Given the description of an element on the screen output the (x, y) to click on. 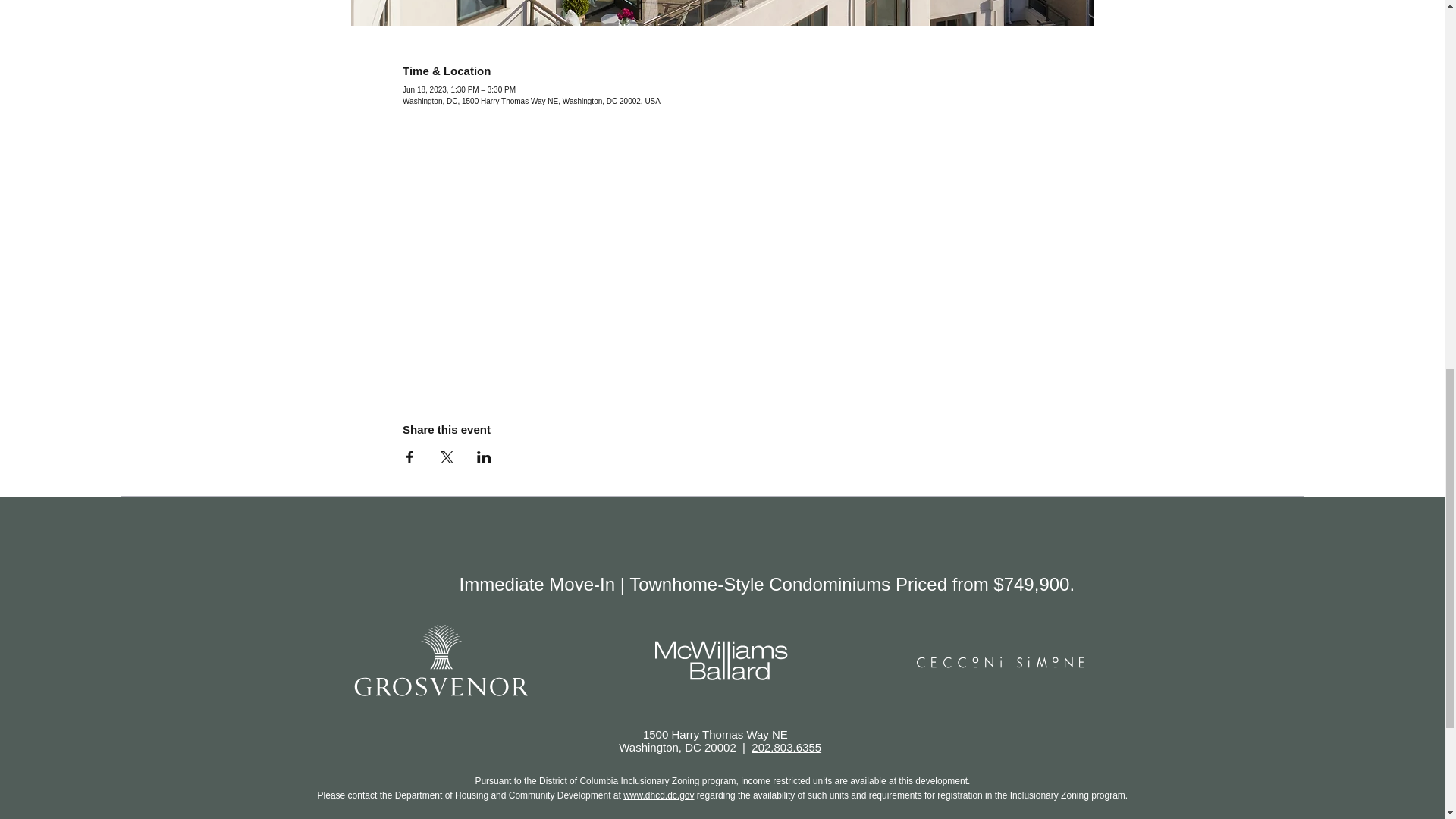
202.803.6355 (786, 747)
www.dhcd.dc.gov (658, 795)
